Given the description of an element on the screen output the (x, y) to click on. 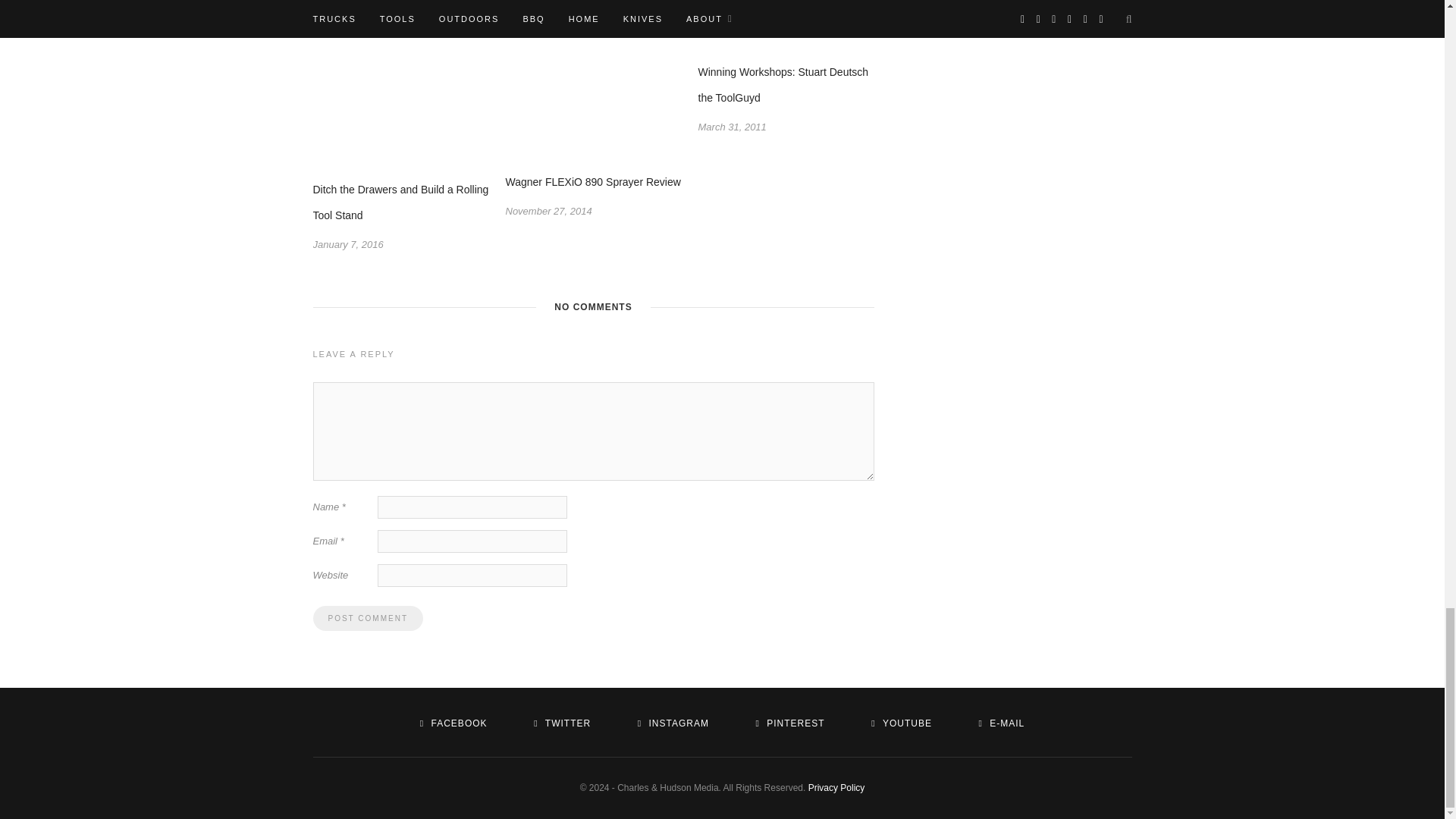
Ditch the Drawers and Build a Rolling Tool Stand 2 (400, 111)
Post Comment (367, 618)
Wagner FLEXiO 890 Sprayer Review 3 (593, 107)
